Given the description of an element on the screen output the (x, y) to click on. 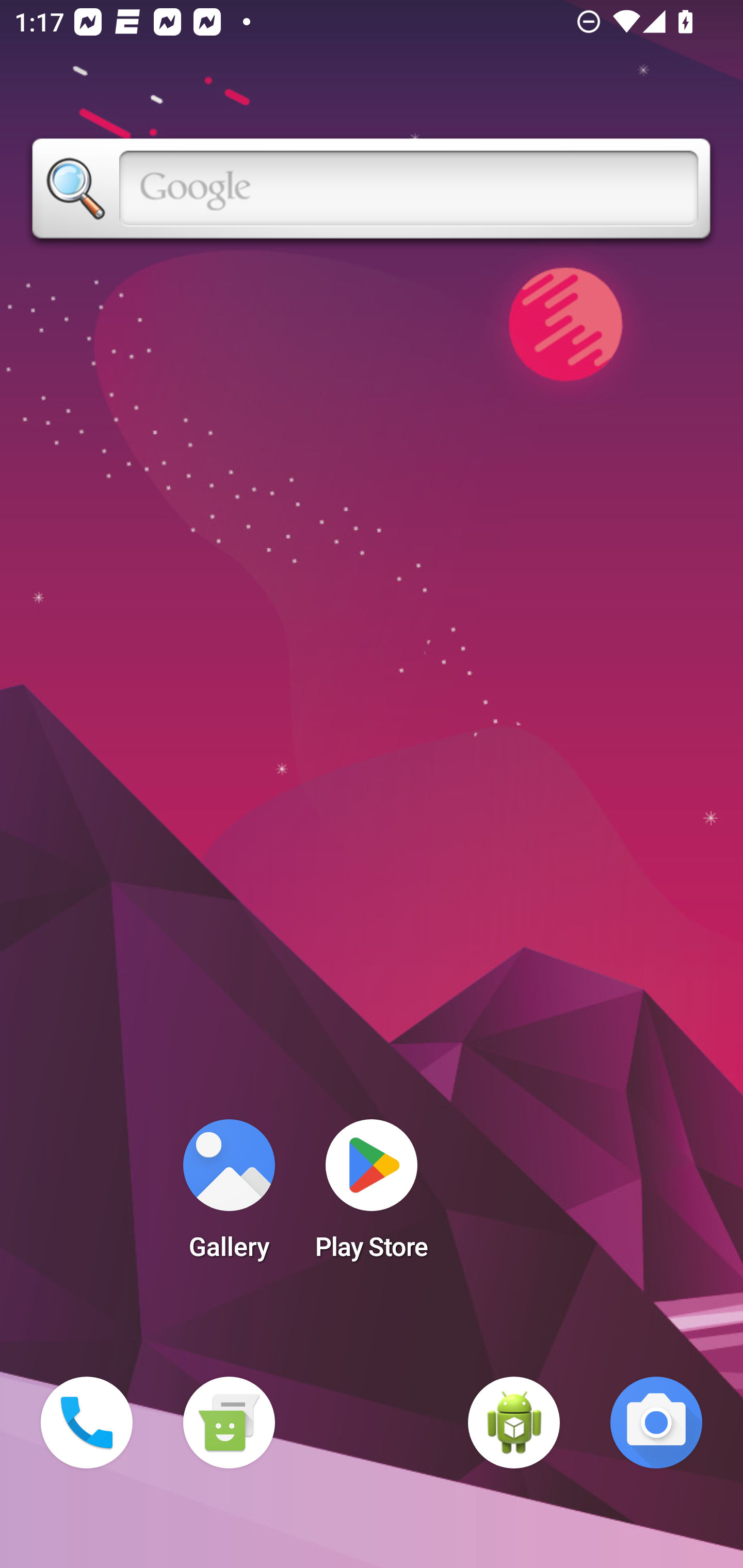
Gallery (228, 1195)
Play Store (371, 1195)
Phone (86, 1422)
Messaging (228, 1422)
WebView Browser Tester (513, 1422)
Camera (656, 1422)
